Given the description of an element on the screen output the (x, y) to click on. 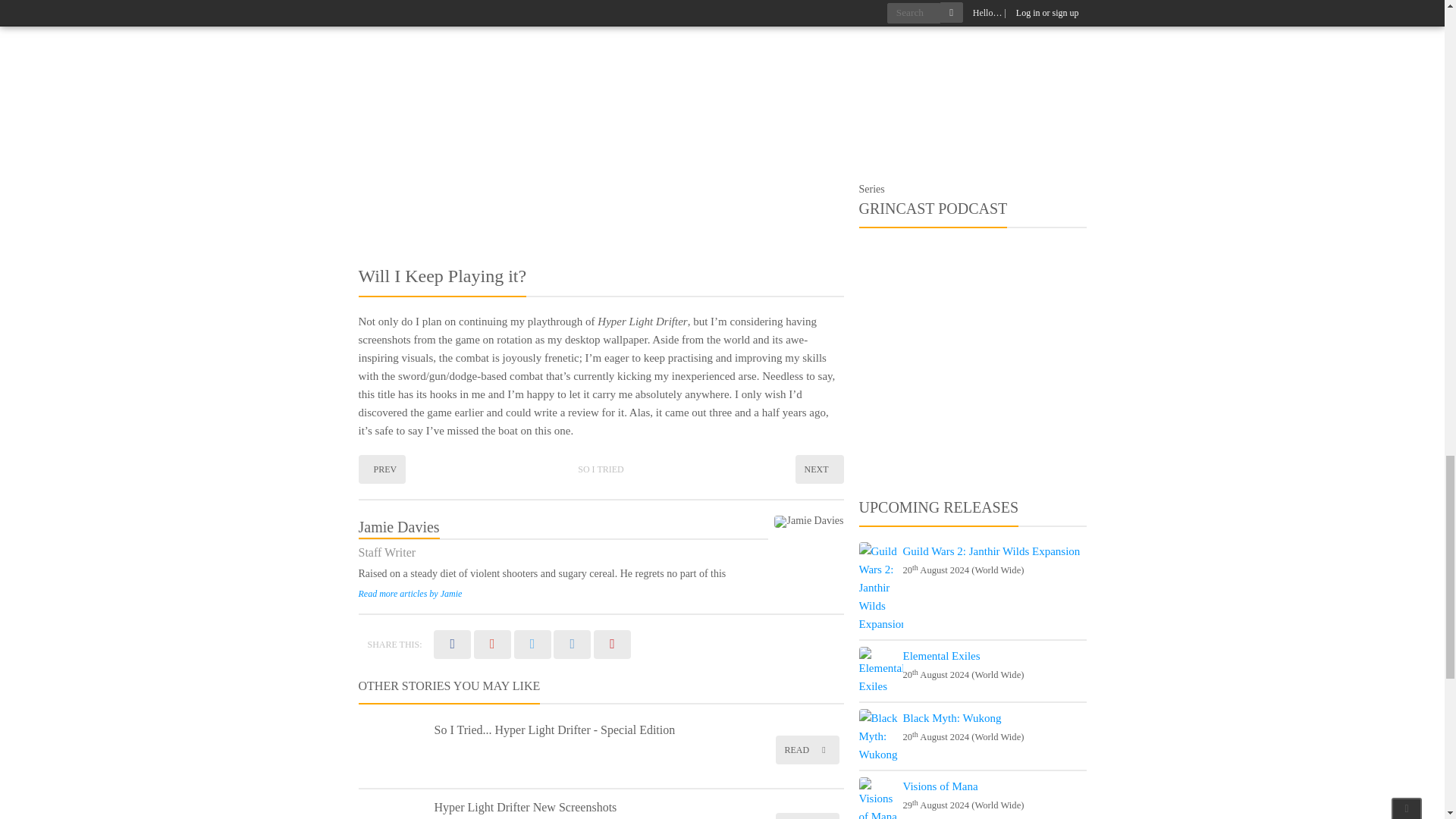
READ (806, 749)
Hyper Light Drifter New Screenshots (524, 807)
NEXT (818, 469)
Read more articles by Jamie (409, 593)
So I Tried... Hyper Light Drifter - Special Edition (554, 729)
PREV (382, 469)
